Given the description of an element on the screen output the (x, y) to click on. 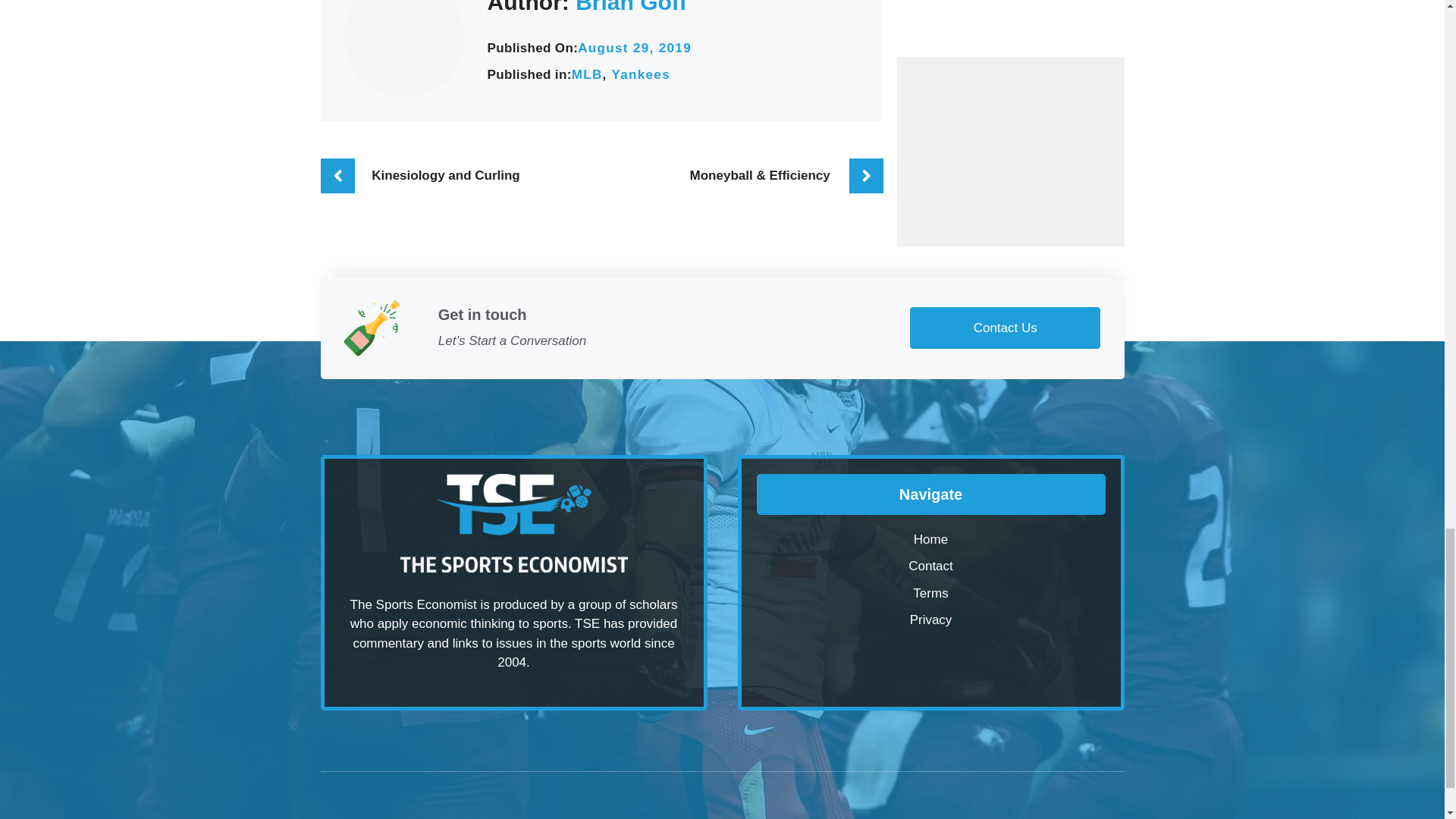
Brian Goff (631, 7)
MLB (587, 74)
Yankees (640, 74)
thesportseconomist Logo (513, 523)
August 29, 2019 (634, 47)
